Given the description of an element on the screen output the (x, y) to click on. 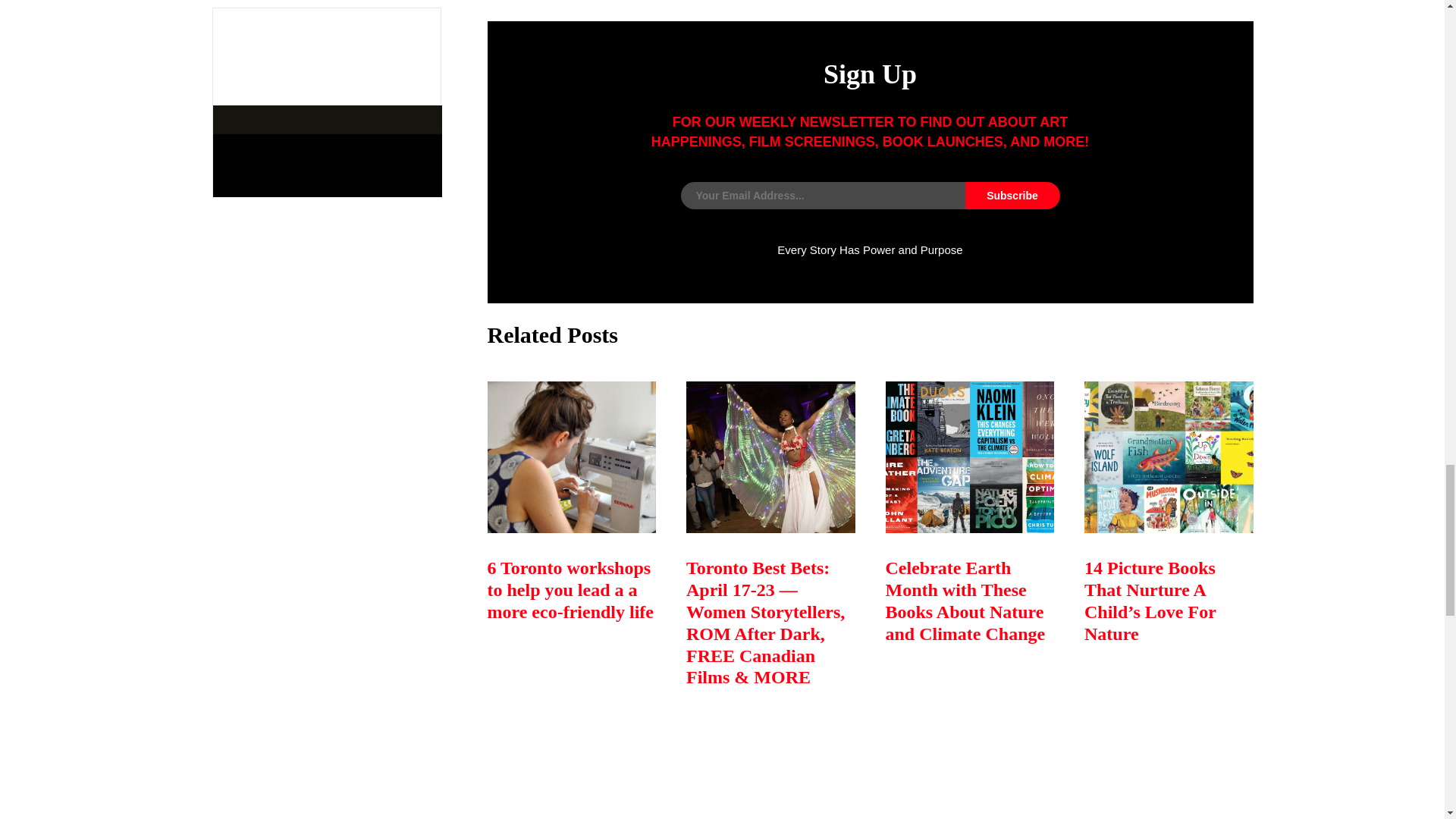
Subscribe (1011, 195)
Subscribe (1011, 195)
